Given the description of an element on the screen output the (x, y) to click on. 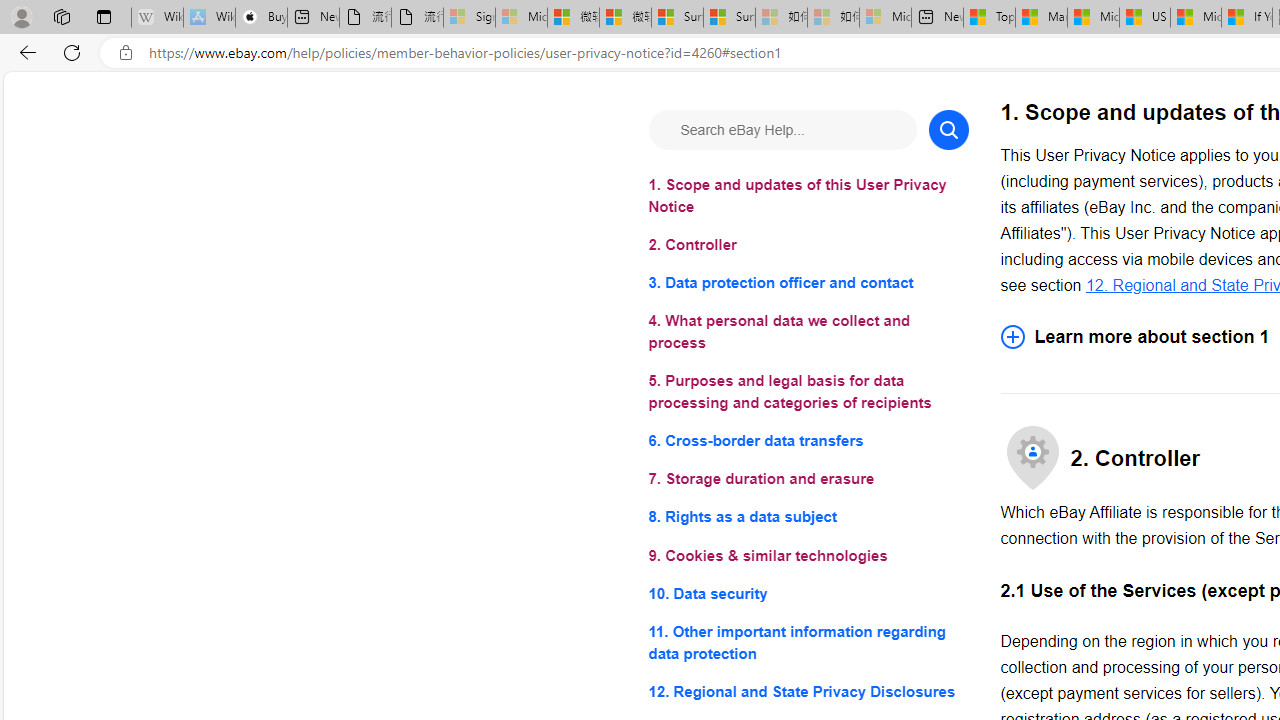
Microsoft Services Agreement - Sleeping (520, 17)
4. What personal data we collect and process (807, 332)
9. Cookies & similar technologies (807, 555)
12. Regional and State Privacy Disclosures (807, 690)
6. Cross-border data transfers (807, 440)
6. Cross-border data transfers (807, 440)
11. Other important information regarding data protection (807, 642)
7. Storage duration and erasure (807, 479)
